Given the description of an element on the screen output the (x, y) to click on. 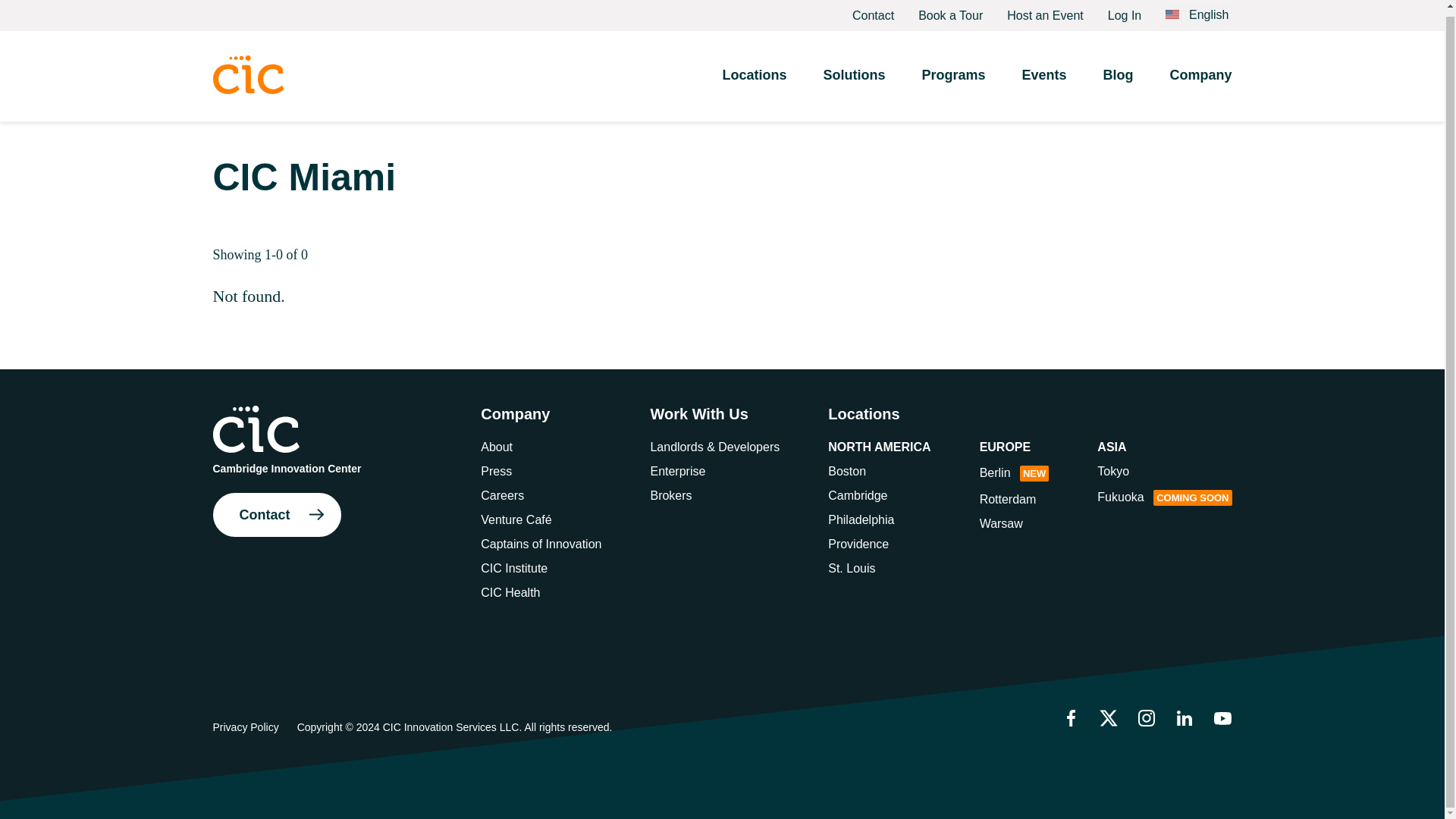
Solutions (853, 70)
Contact (872, 12)
Events (1043, 70)
Blog (1117, 70)
English (1196, 9)
Programs (953, 70)
Log In (1124, 12)
Locations (754, 70)
Book a Tour (950, 12)
Host an Event (1045, 12)
